Given the description of an element on the screen output the (x, y) to click on. 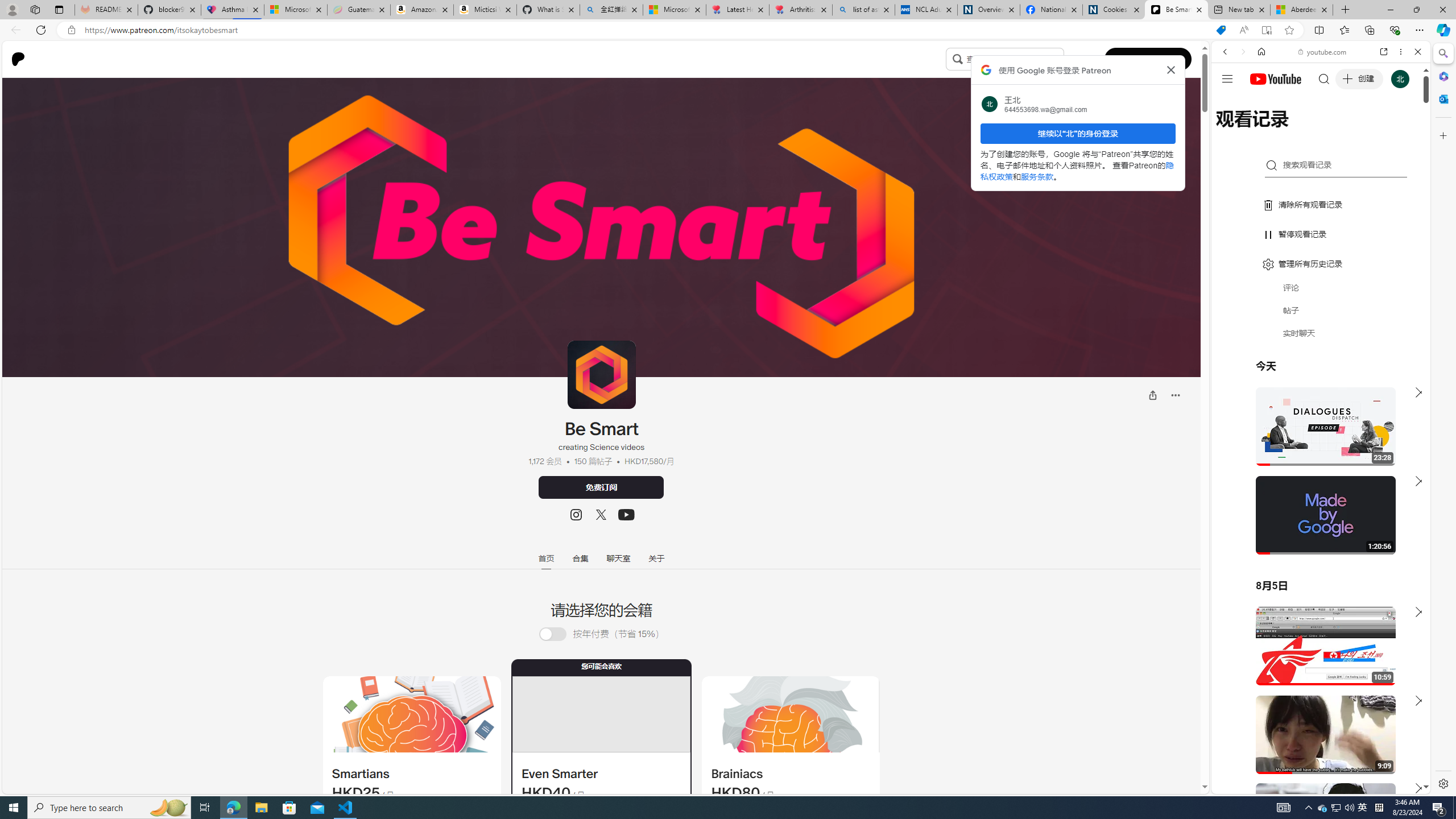
Go to home page (22, 59)
